Given the description of an element on the screen output the (x, y) to click on. 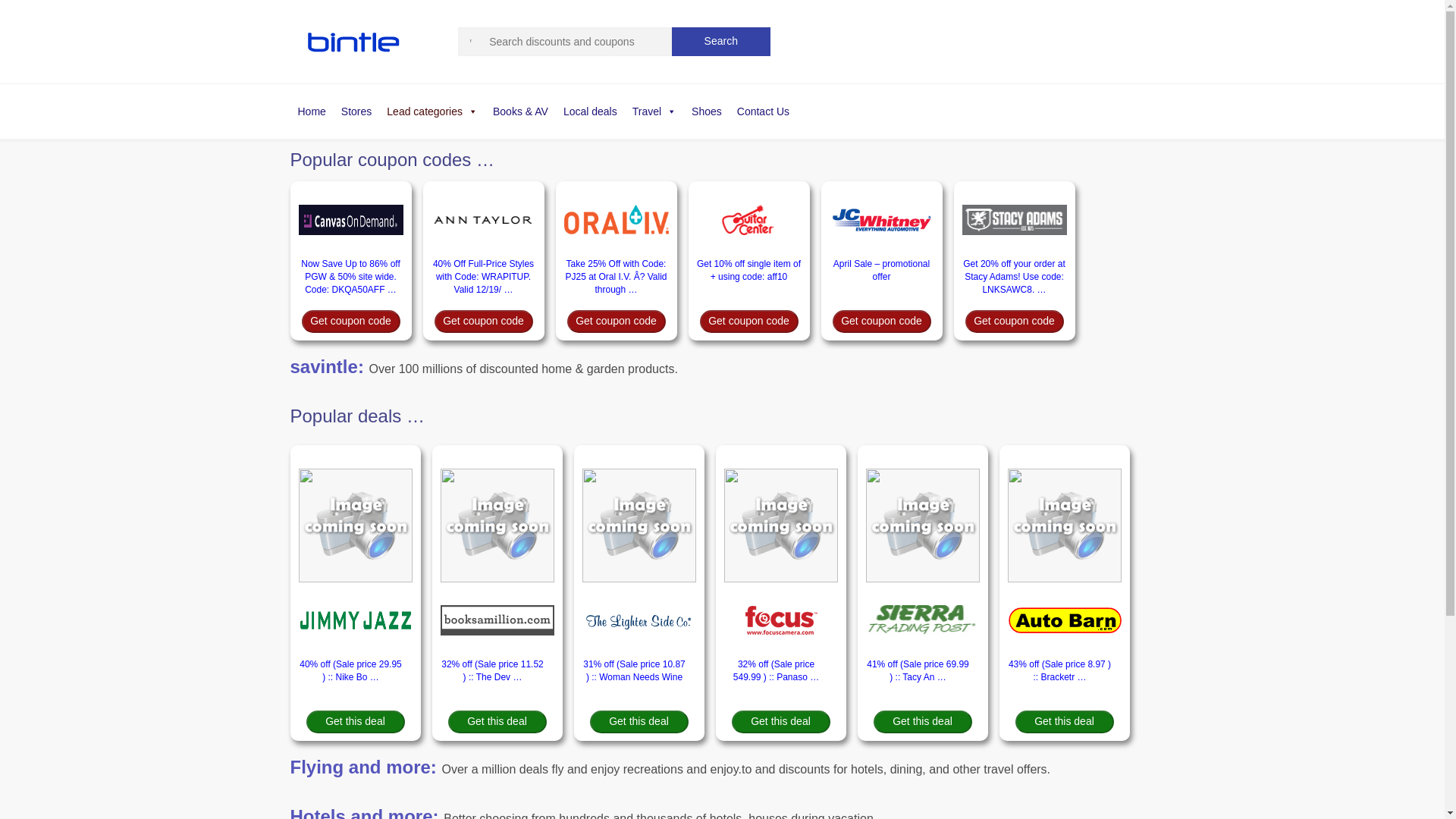
Stores (355, 111)
Search (720, 41)
Travel (654, 111)
Browse categories for coupons and discounts (431, 111)
Print your own coupons and take them to the store (520, 111)
Contact Us (762, 111)
Lead categories (431, 111)
Browse hundreds of stores (355, 111)
Home (311, 111)
Local deals (590, 111)
